Given the description of an element on the screen output the (x, y) to click on. 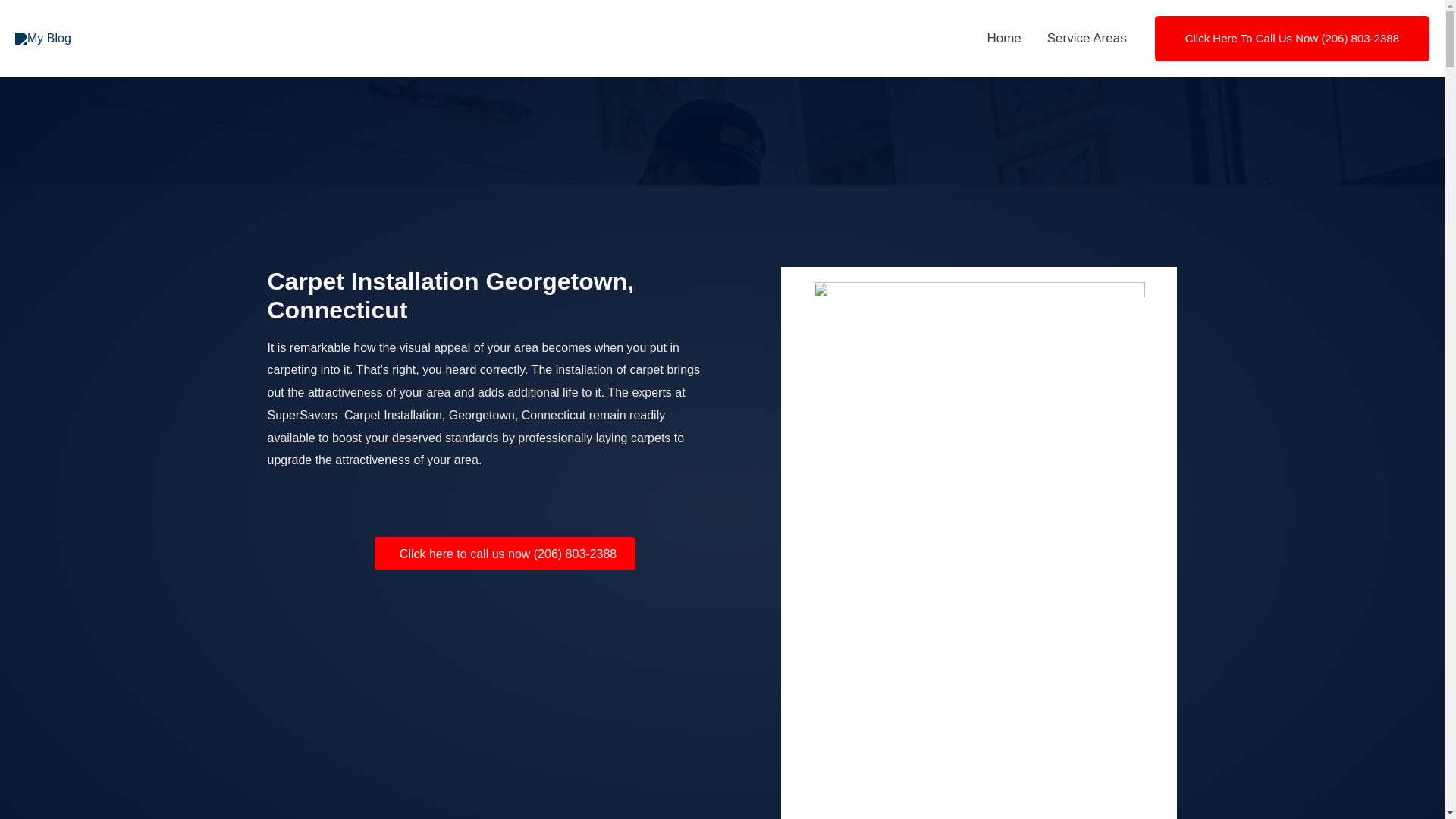
Home (1003, 38)
Service Areas (1086, 38)
